Given the description of an element on the screen output the (x, y) to click on. 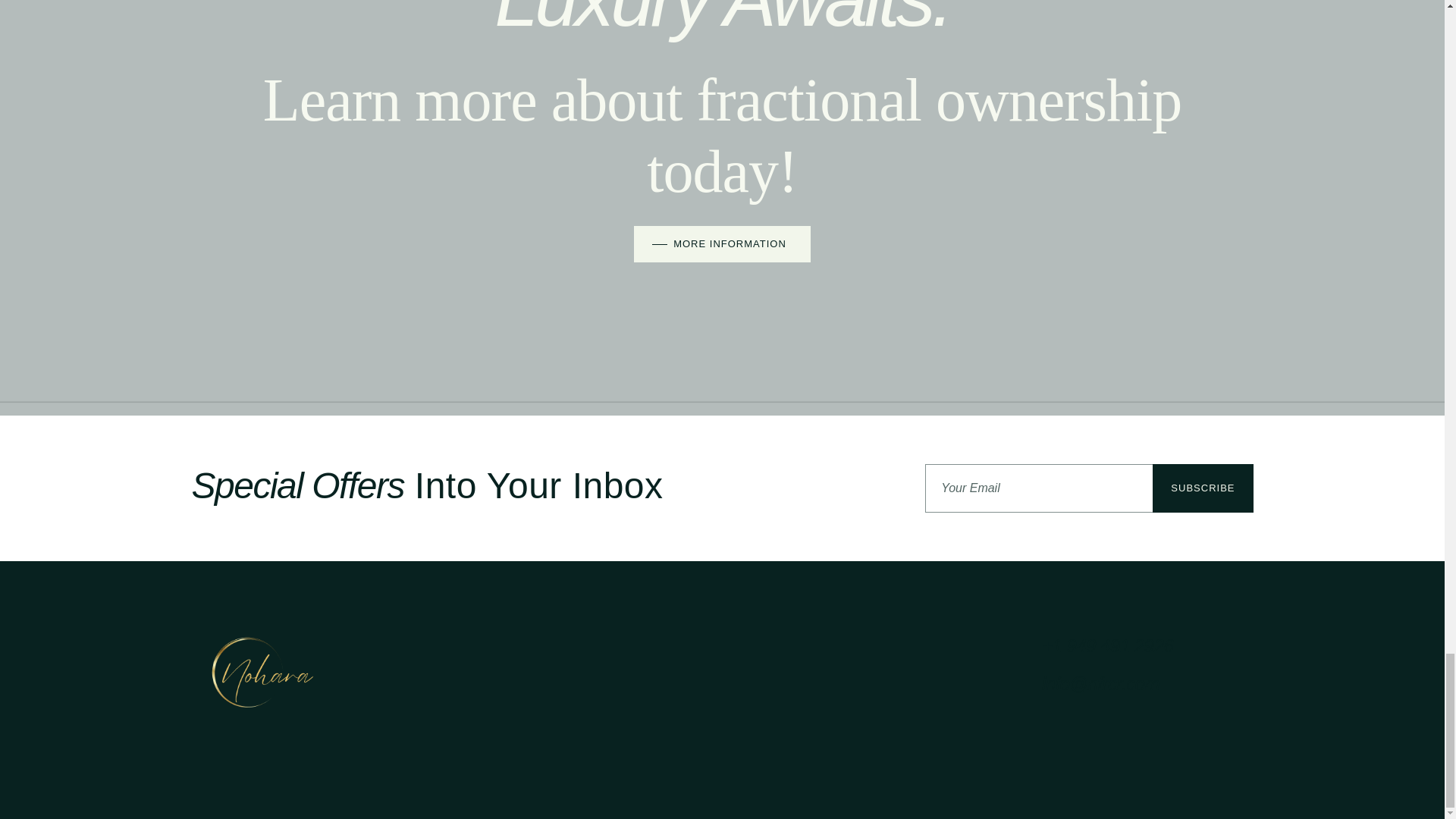
Subscribe (1202, 488)
Subscribe (1202, 488)
MORE INFORMATION (721, 244)
